Given the description of an element on the screen output the (x, y) to click on. 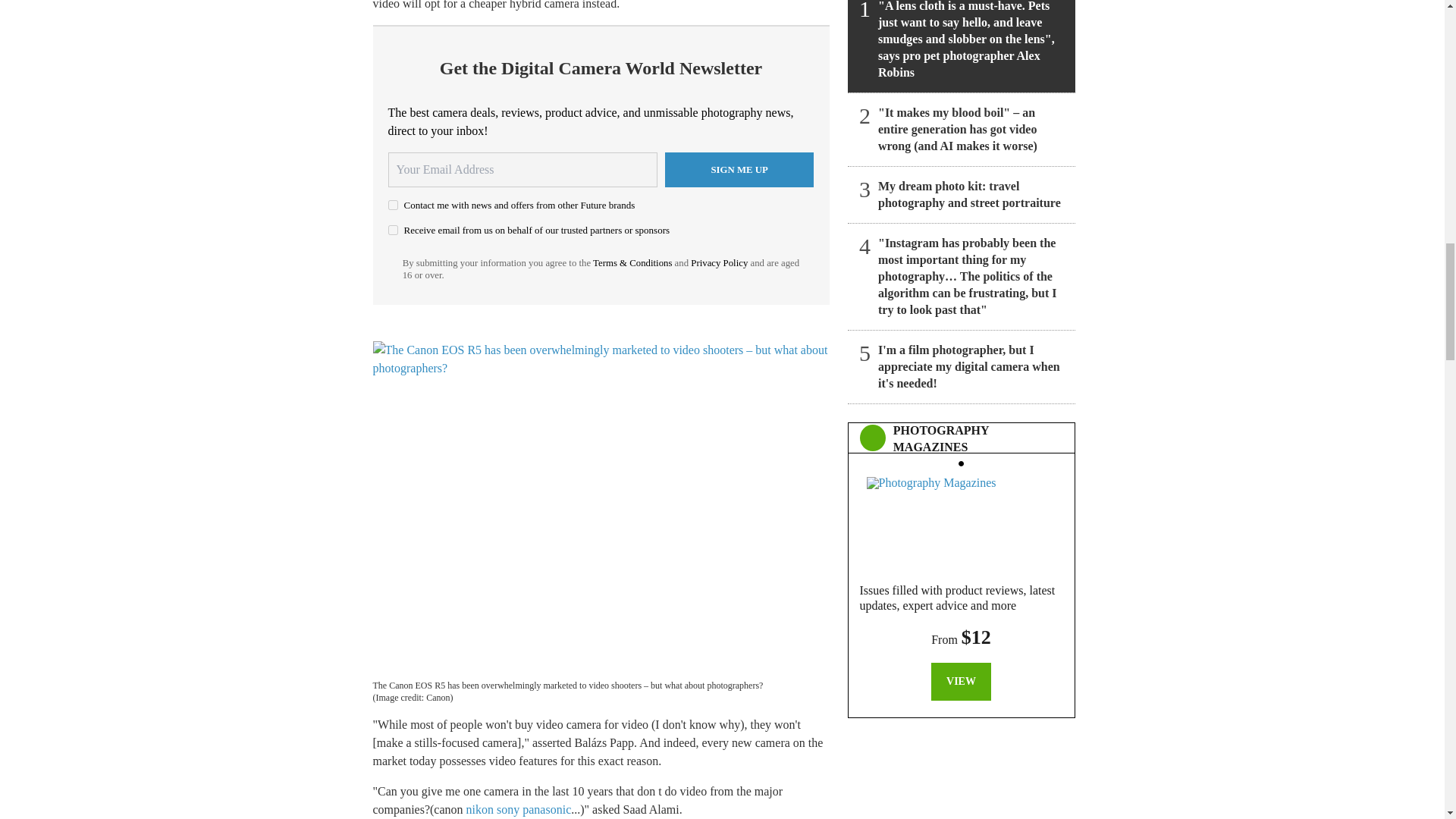
on (392, 230)
Photography Magazines (960, 520)
on (392, 204)
Sign me up (739, 169)
